Given the description of an element on the screen output the (x, y) to click on. 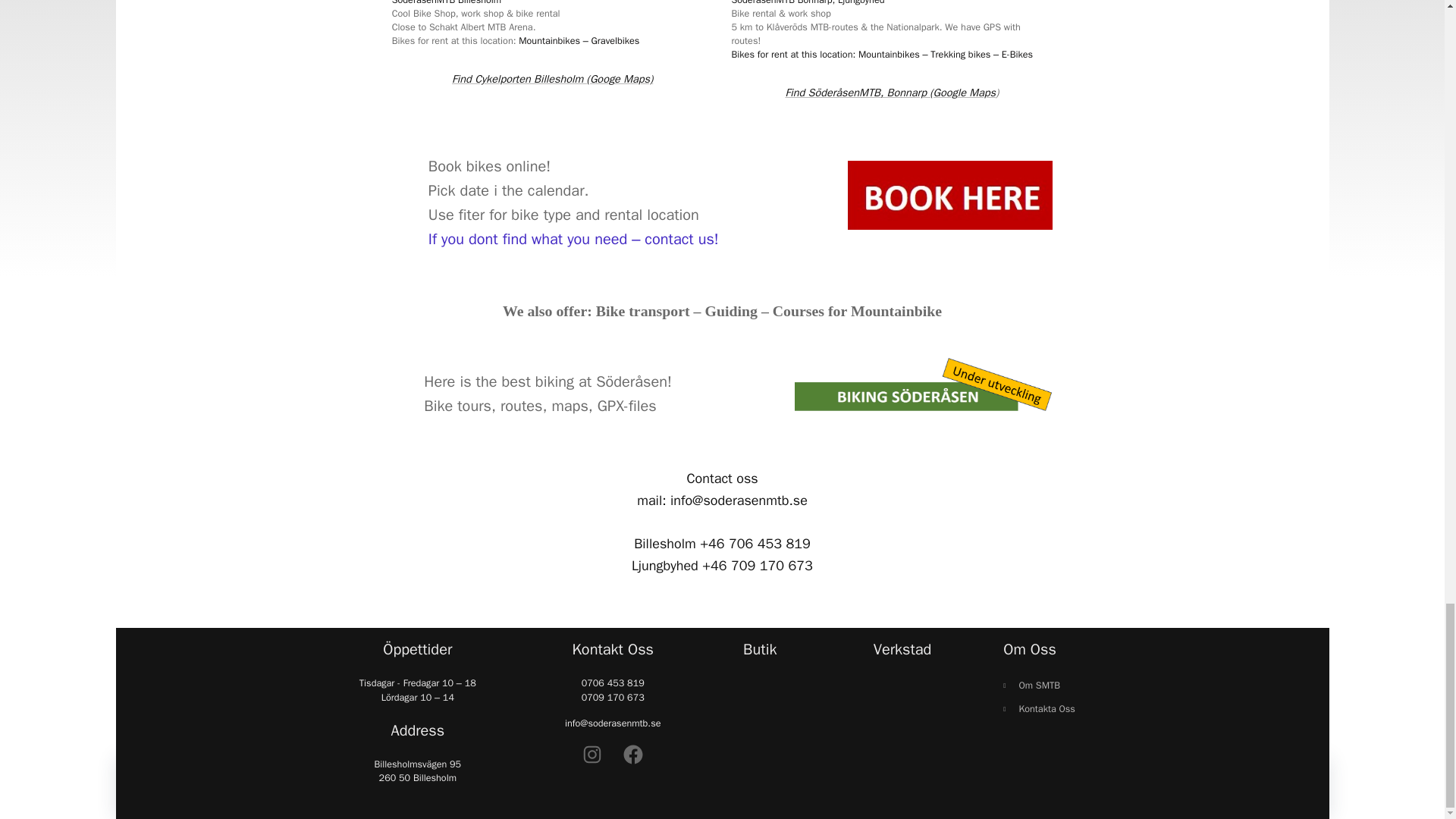
Find Cykelporten Billesh (508, 78)
